Given the description of an element on the screen output the (x, y) to click on. 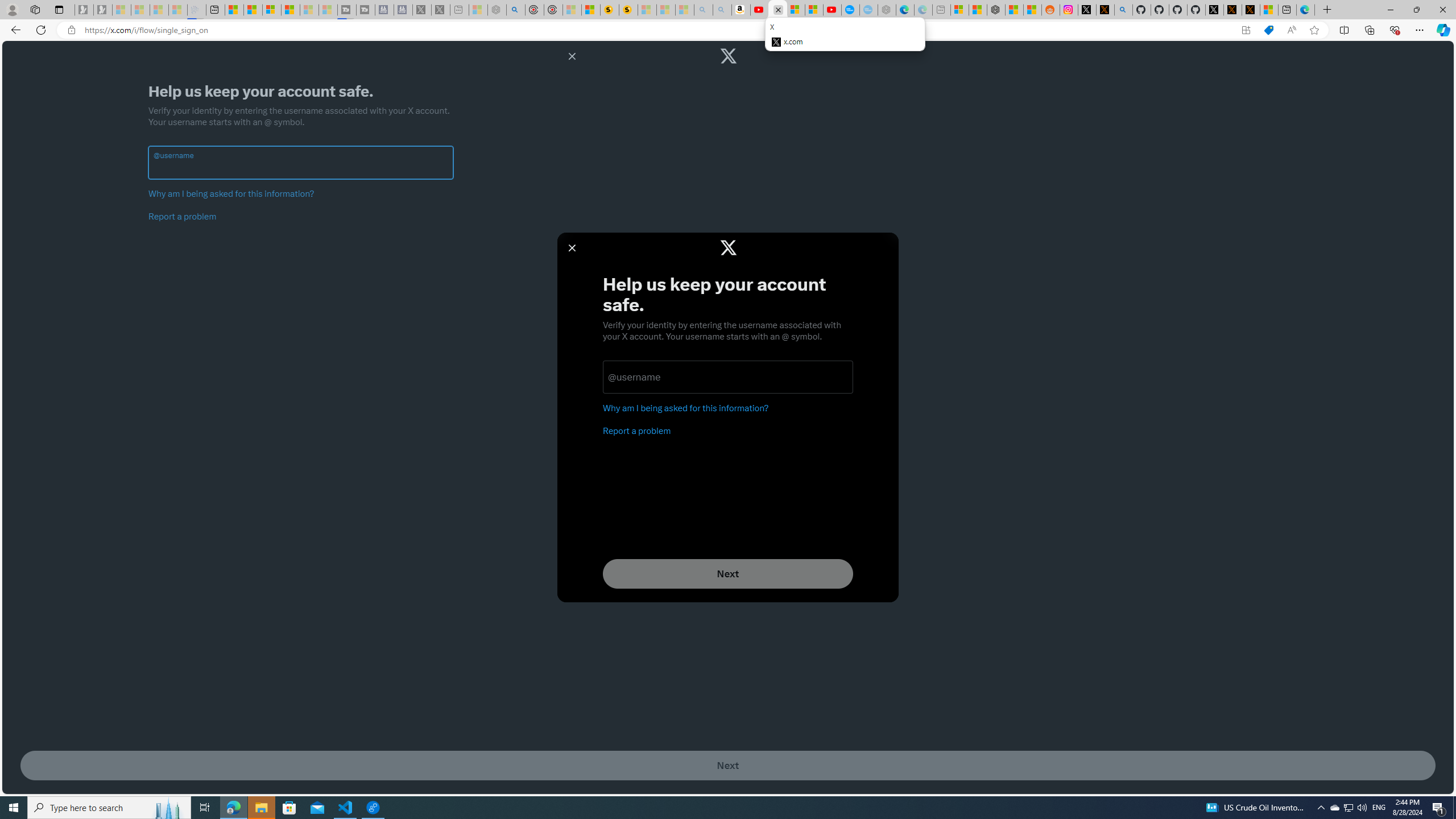
@username (300, 167)
github - Search (1123, 9)
Profile / X (1214, 9)
Michelle Starr, Senior Journalist at ScienceAlert (628, 9)
